Given the description of an element on the screen output the (x, y) to click on. 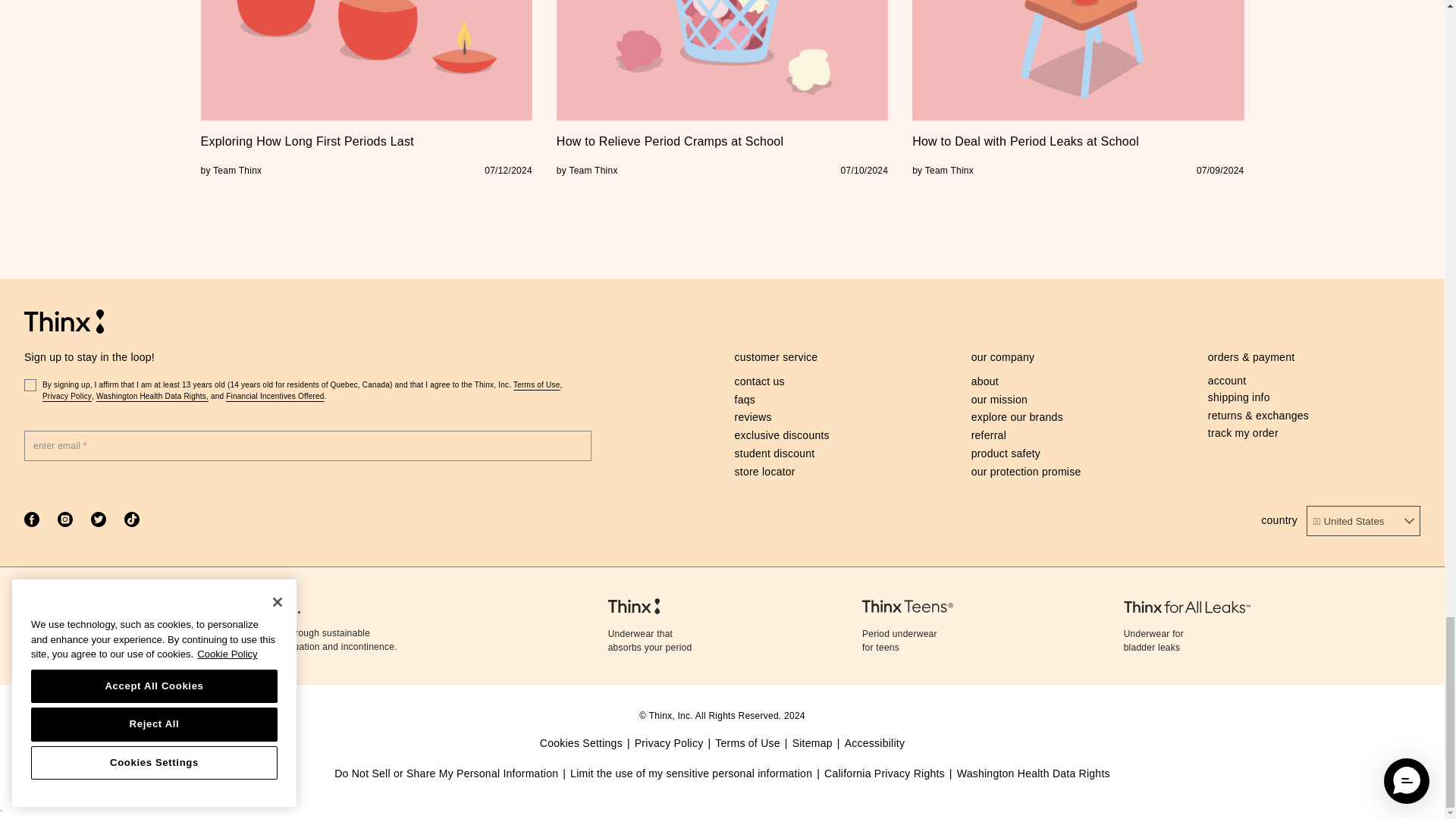
Twitter Icon (98, 519)
Facebook Icon (31, 519)
email-checkbox (30, 385)
